Given the description of an element on the screen output the (x, y) to click on. 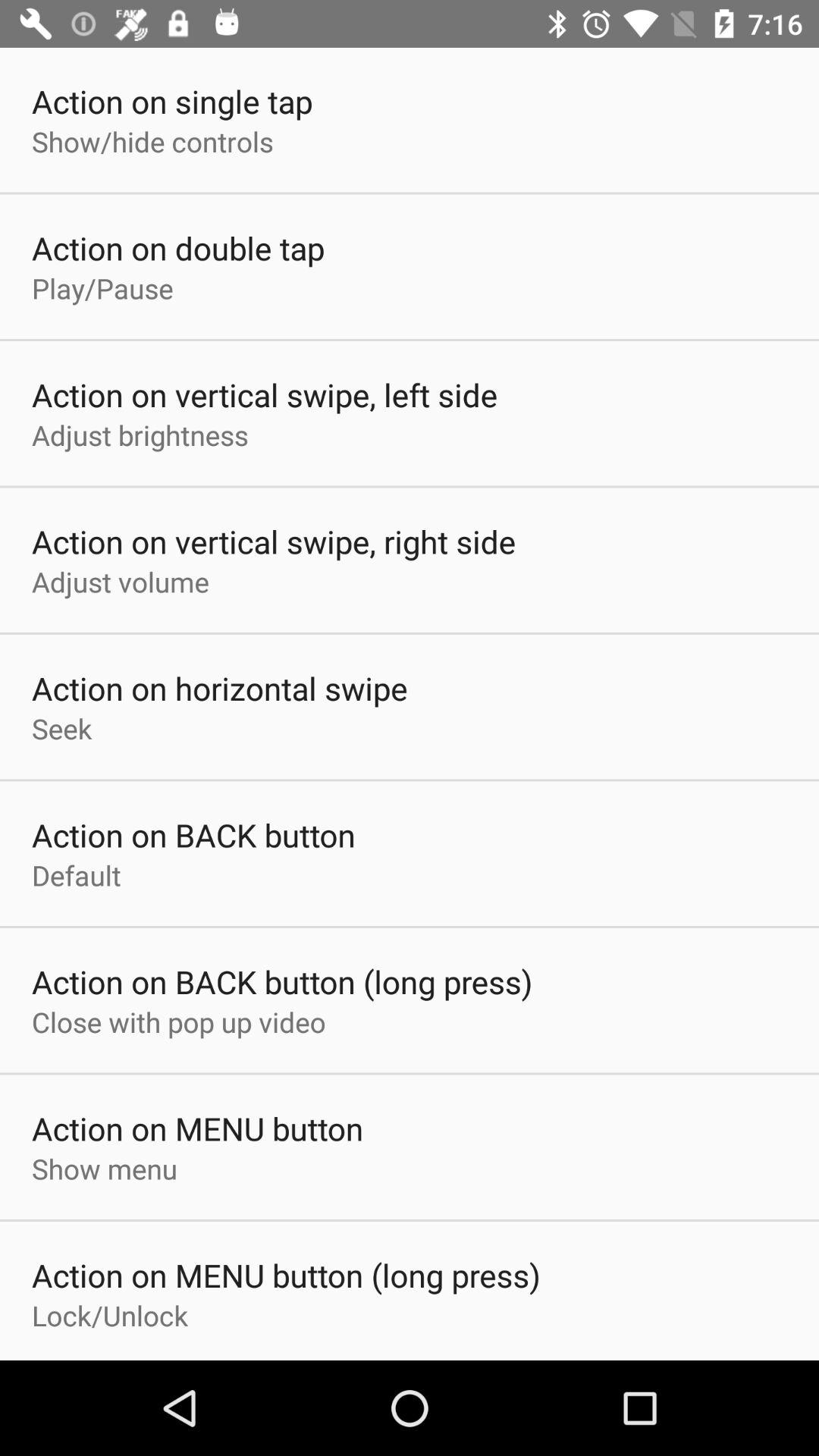
scroll until play/pause item (102, 288)
